Given the description of an element on the screen output the (x, y) to click on. 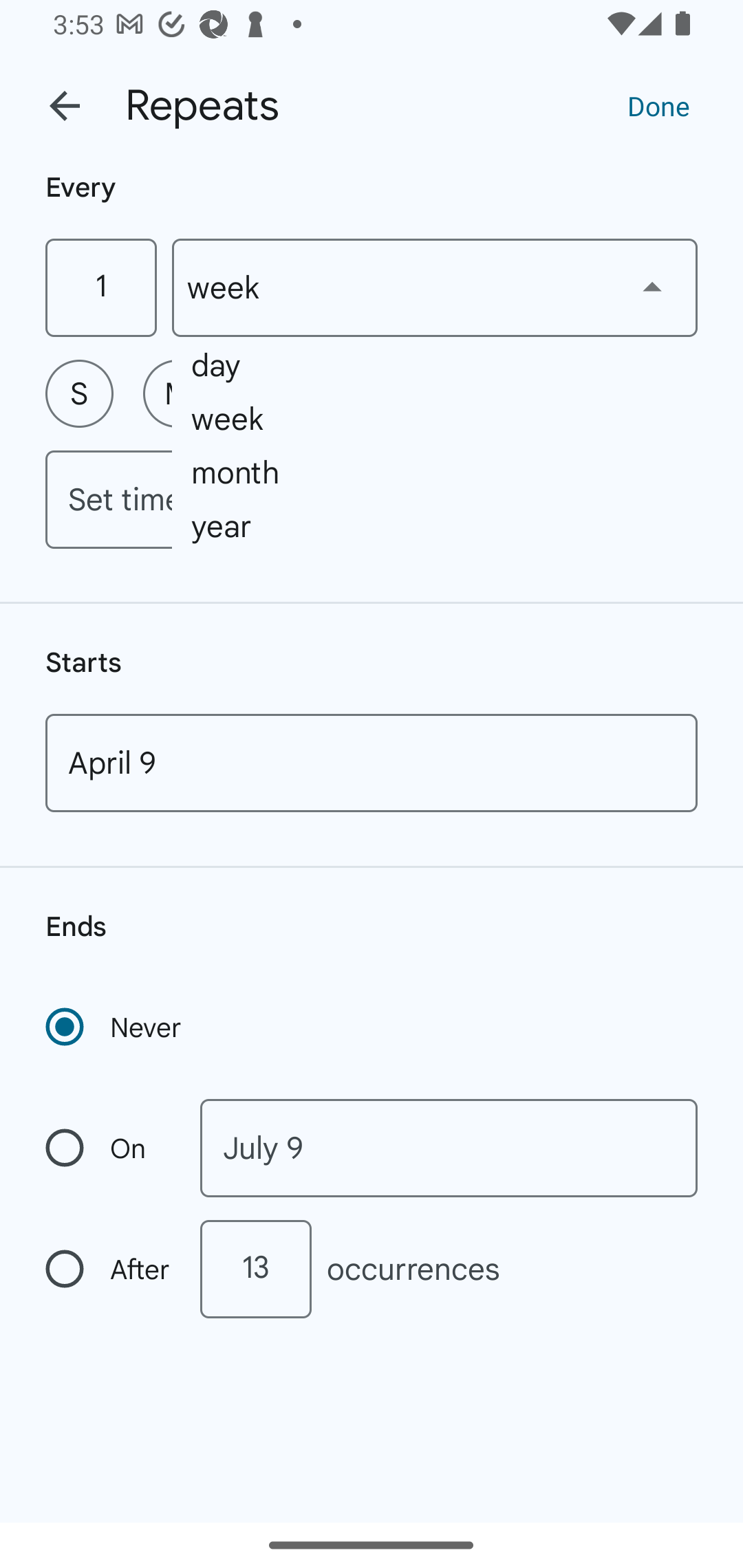
Back (64, 105)
Done (658, 105)
1 (100, 287)
week (434, 287)
Show dropdown menu (652, 286)
S Sunday (79, 393)
Set time (371, 499)
April 9 (371, 762)
Never Recurrence never ends (115, 1026)
July 9 (448, 1148)
On Recurrence ends on a specific date (109, 1148)
13 (255, 1268)
